Given the description of an element on the screen output the (x, y) to click on. 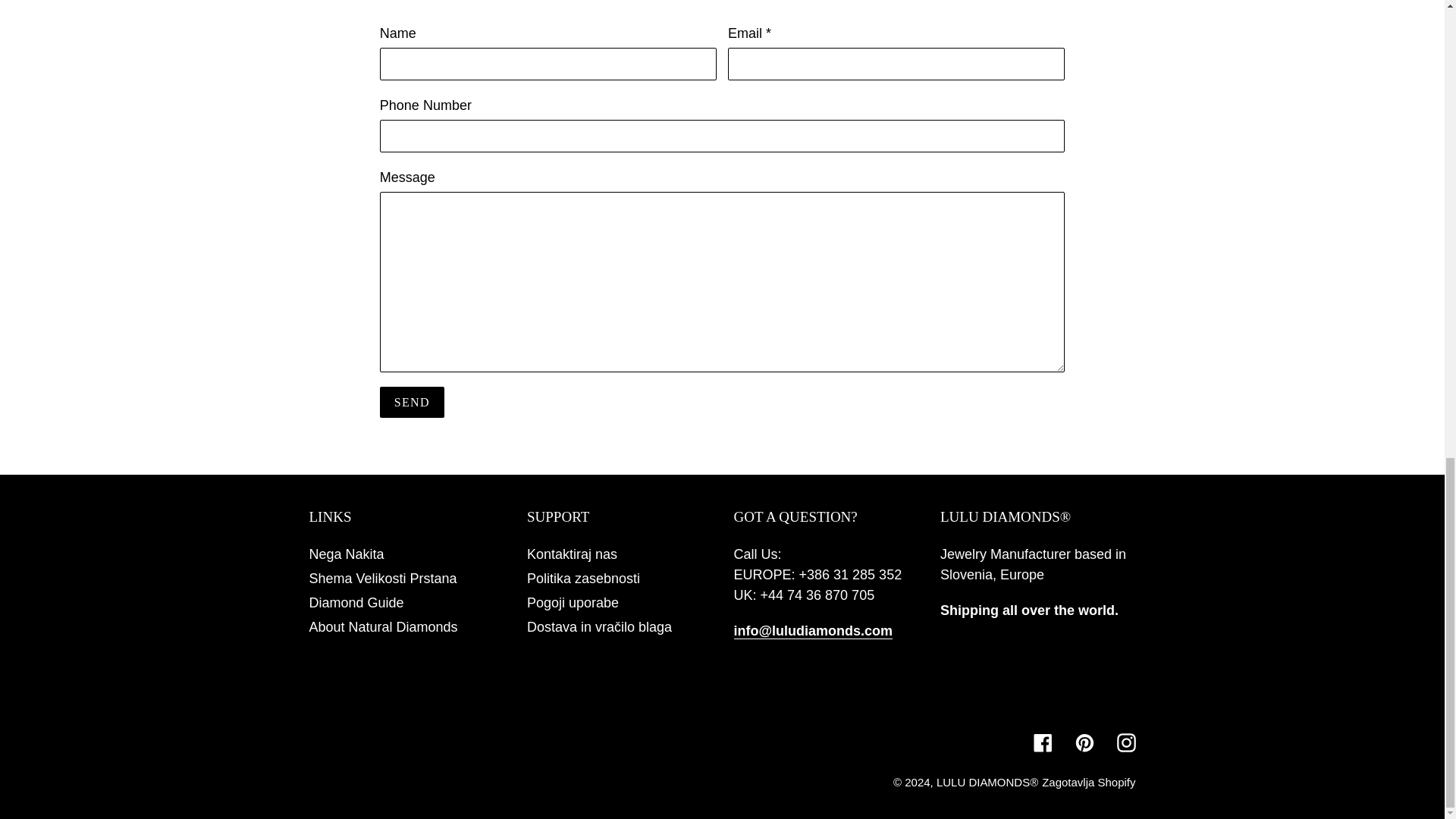
Facebook (1041, 742)
About Natural Diamonds (383, 626)
Nega Nakita (346, 554)
Shema Velikosti Prstana (382, 578)
Diamond Guide (356, 602)
Send (412, 401)
Kontaktiraj nas (572, 554)
Pogoji uporabe (572, 602)
Send (412, 401)
Politika zasebnosti (583, 578)
